Given the description of an element on the screen output the (x, y) to click on. 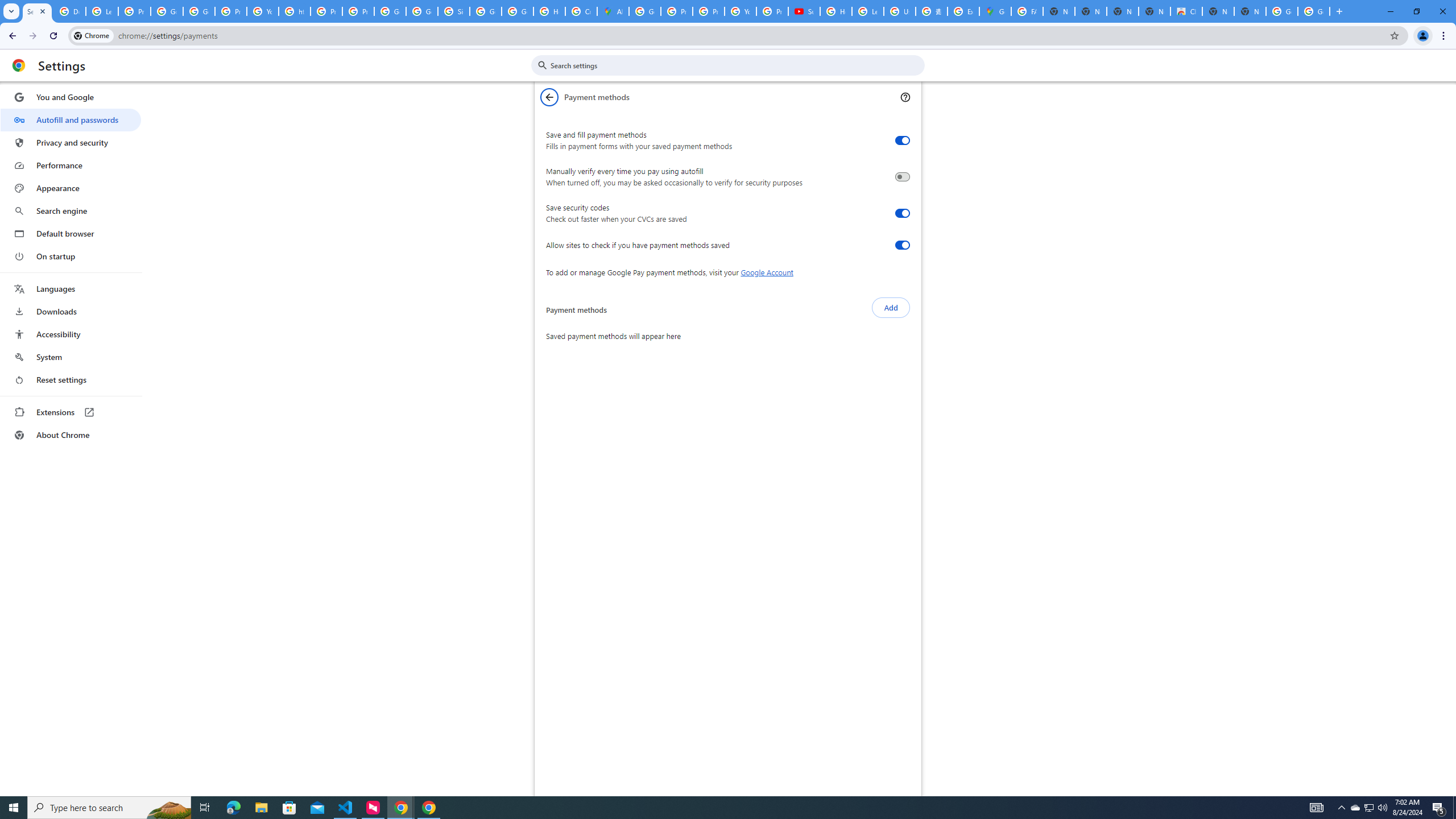
Privacy Help Center - Policies Help (326, 11)
On startup (70, 255)
Privacy Help Center - Policies Help (676, 11)
You and Google (70, 96)
